Given the description of an element on the screen output the (x, y) to click on. 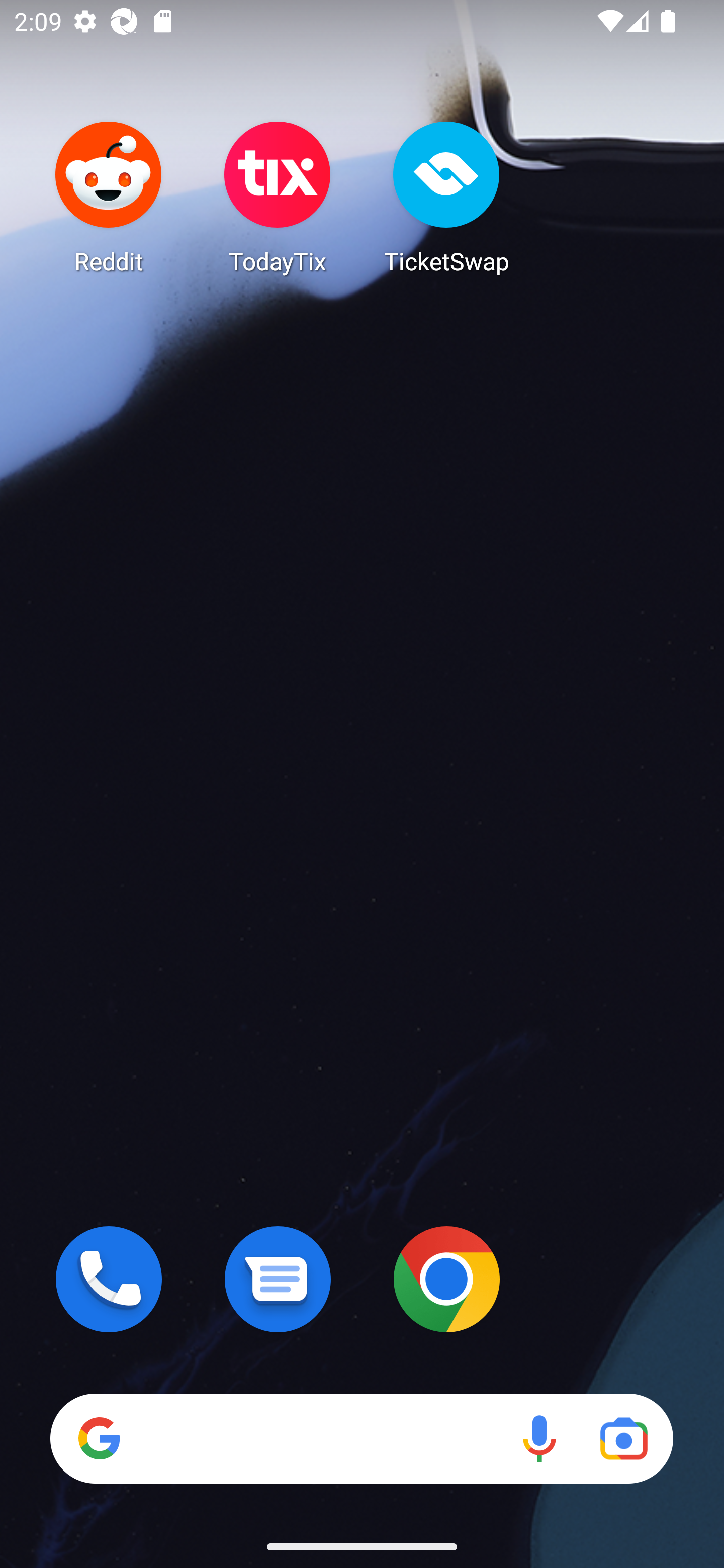
Reddit (108, 196)
TodayTix (277, 196)
TicketSwap (445, 196)
Phone (108, 1279)
Messages (277, 1279)
Chrome (446, 1279)
Voice search (539, 1438)
Google Lens (623, 1438)
